Given the description of an element on the screen output the (x, y) to click on. 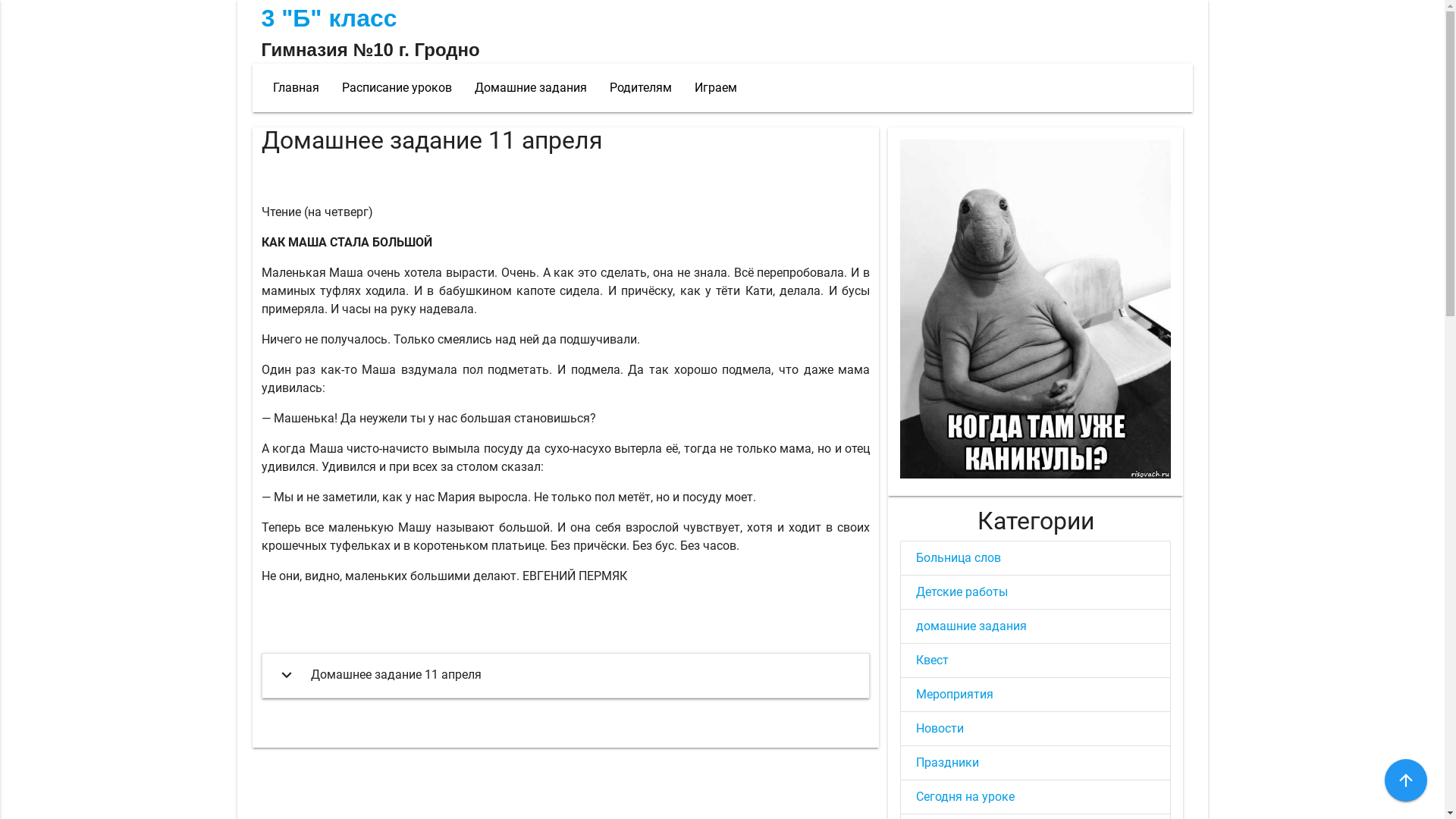
arrow_upward Element type: text (1405, 780)
